Given the description of an element on the screen output the (x, y) to click on. 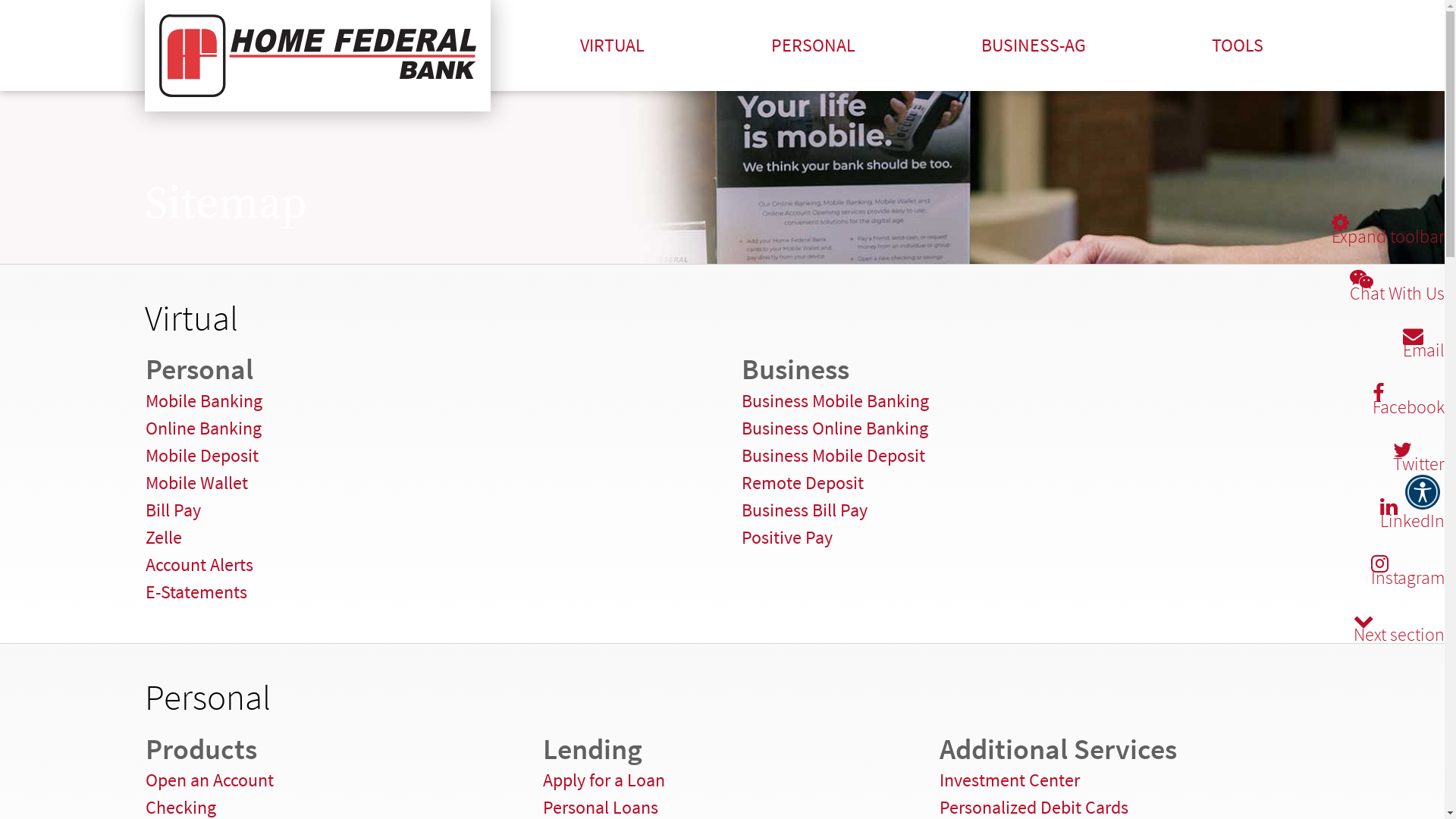
Online Banking Element type: text (203, 427)
Business Online Banking Element type: text (834, 427)
LinkedIn Element type: text (1412, 520)
Chat With Us Element type: text (1396, 293)
Mobile Wallet Element type: text (196, 482)
Open an Account Element type: text (209, 779)
Facebook Element type: text (1408, 406)
Twitter Element type: text (1418, 463)
Next section Element type: text (1398, 634)
Business Mobile Deposit Element type: text (833, 455)
Apply for a Loan Element type: text (603, 779)
Mobile Banking Element type: text (203, 400)
Investment Center Element type: text (1009, 779)
Positive Pay Element type: text (786, 537)
Business Bill Pay Element type: text (804, 509)
Email Element type: text (1423, 350)
Expand toolbar Element type: text (1387, 236)
Business Mobile Banking Element type: text (834, 400)
E-Statements Element type: text (196, 591)
Account Alerts Element type: text (199, 564)
Mobile Deposit Element type: text (201, 455)
Instagram Element type: text (1407, 577)
Remote Deposit Element type: text (802, 482)
Bill Pay Element type: text (172, 509)
Zelle Element type: text (163, 537)
